Given the description of an element on the screen output the (x, y) to click on. 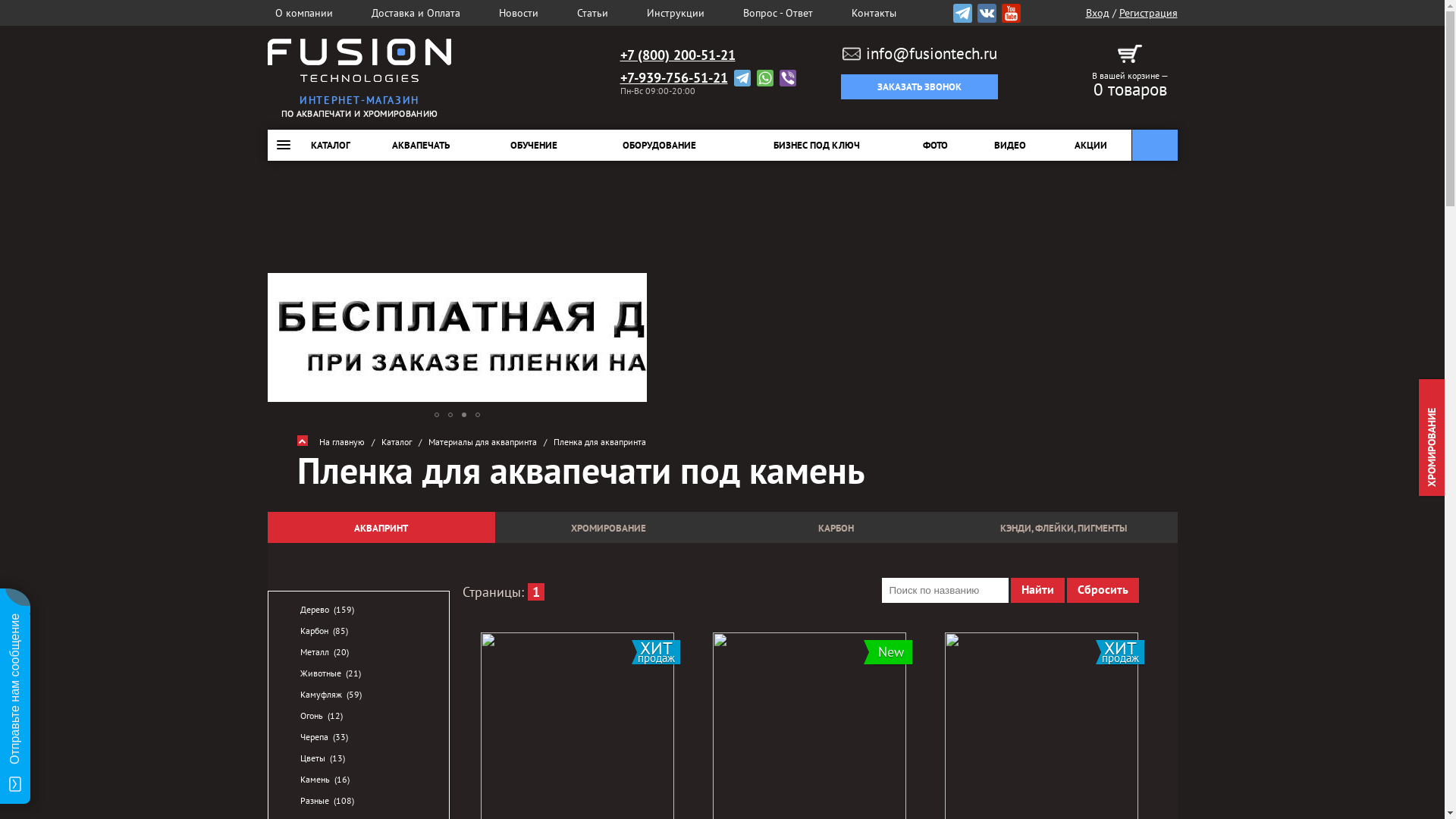
info@fusiontech.ru Element type: text (919, 53)
+7-939-756-51-21 Element type: text (674, 77)
+7 (800) 200-51-21 Element type: text (677, 55)
